Given the description of an element on the screen output the (x, y) to click on. 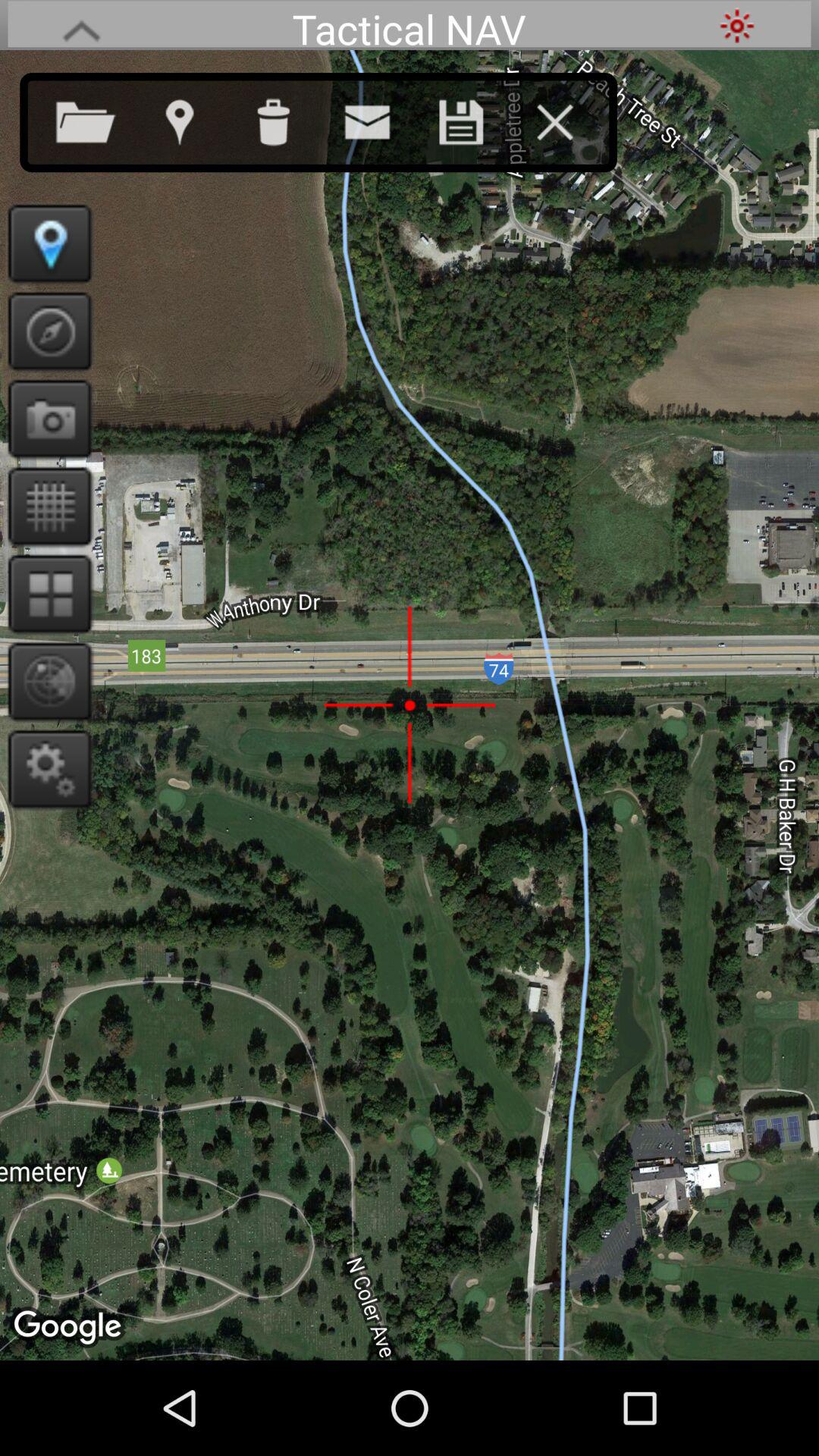
toggle settings/options (45, 768)
